Given the description of an element on the screen output the (x, y) to click on. 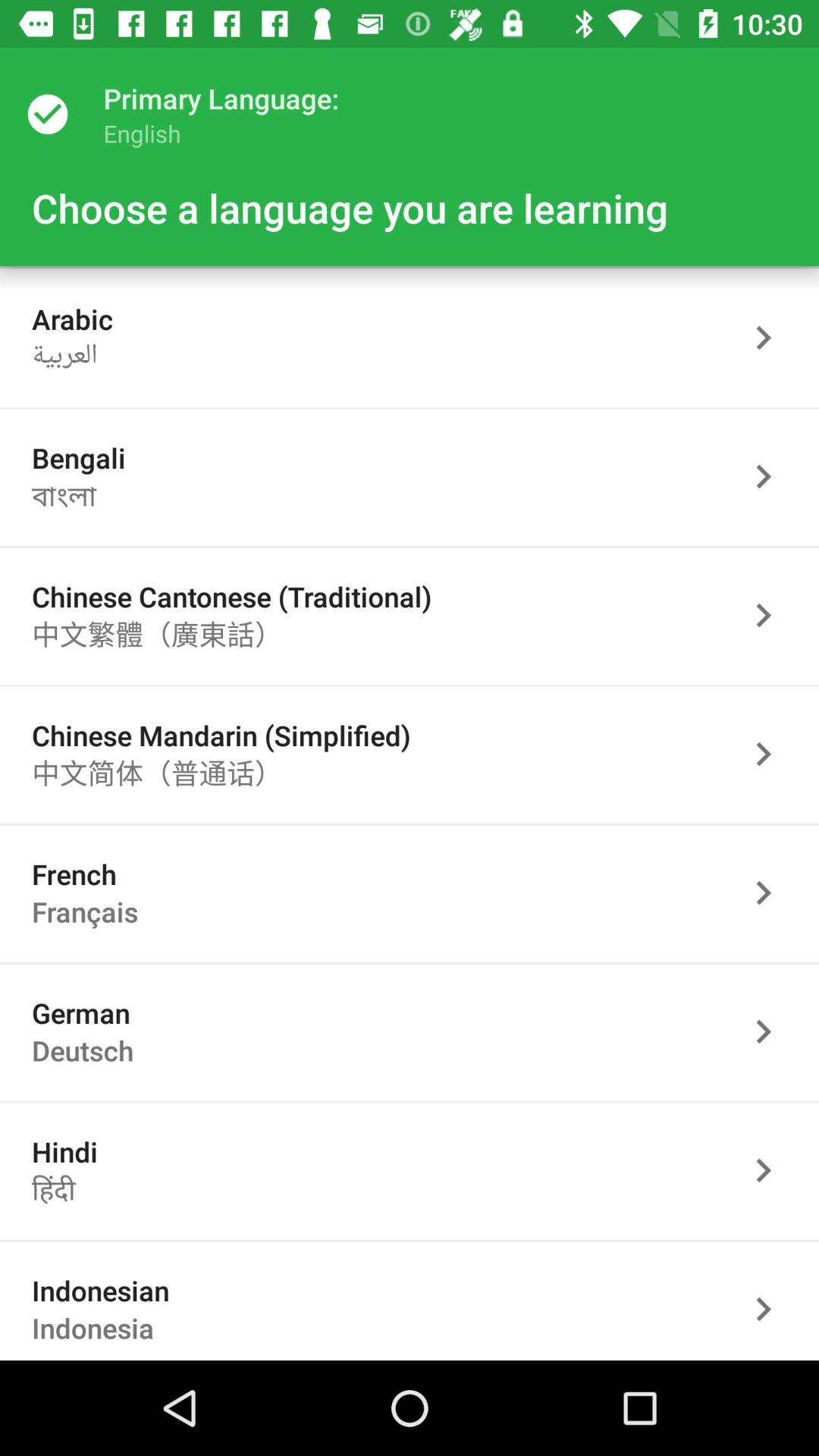
click on chinese mandarin simplified (771, 753)
